Given the description of an element on the screen output the (x, y) to click on. 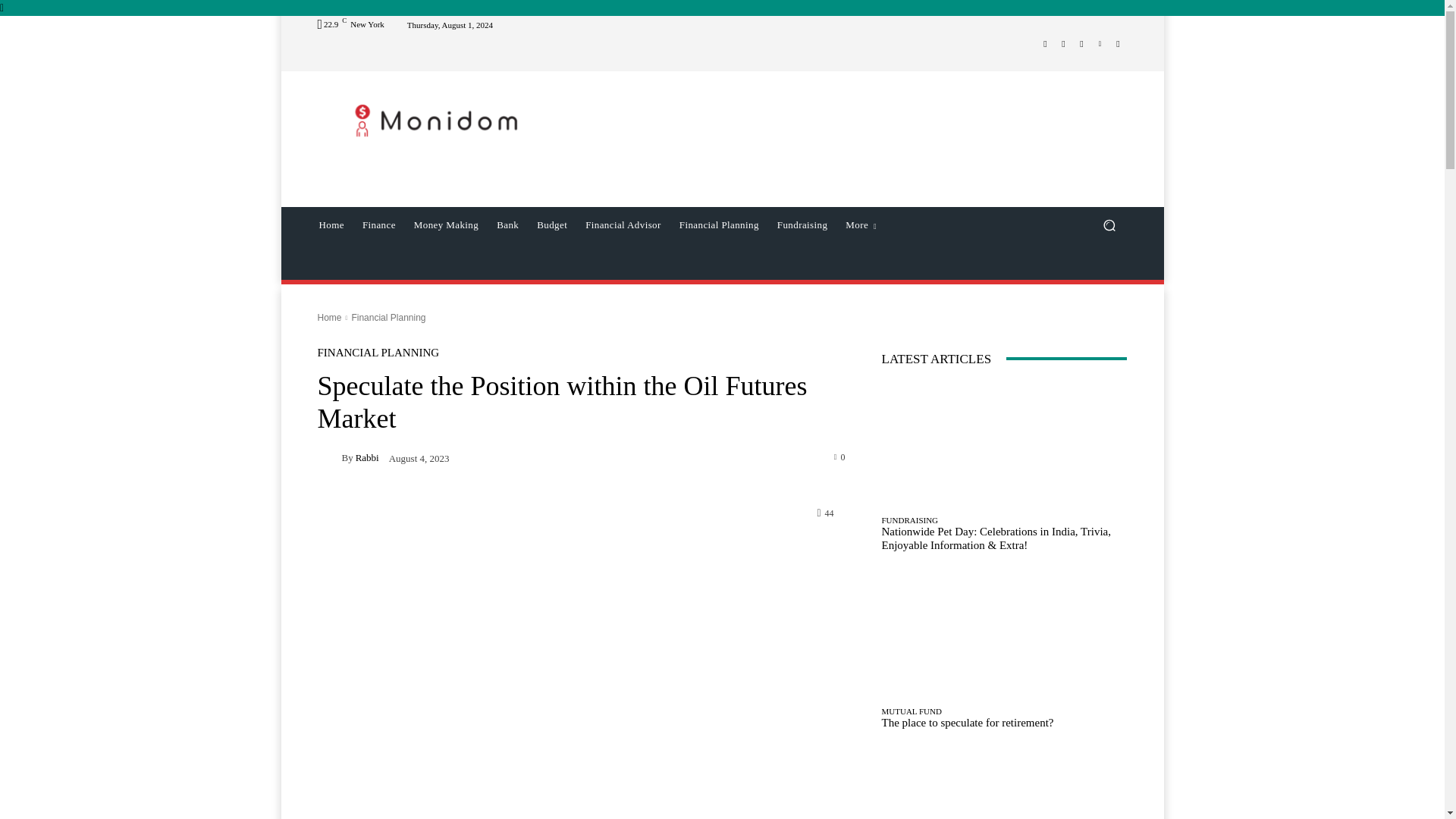
Financial Advisor (622, 225)
Bank (507, 225)
More (860, 225)
Financial Planning (718, 225)
Rabbi (328, 456)
Finance (378, 225)
Money Making (445, 225)
Budget (551, 225)
Twitter (1080, 44)
Vimeo (1099, 44)
